Given the description of an element on the screen output the (x, y) to click on. 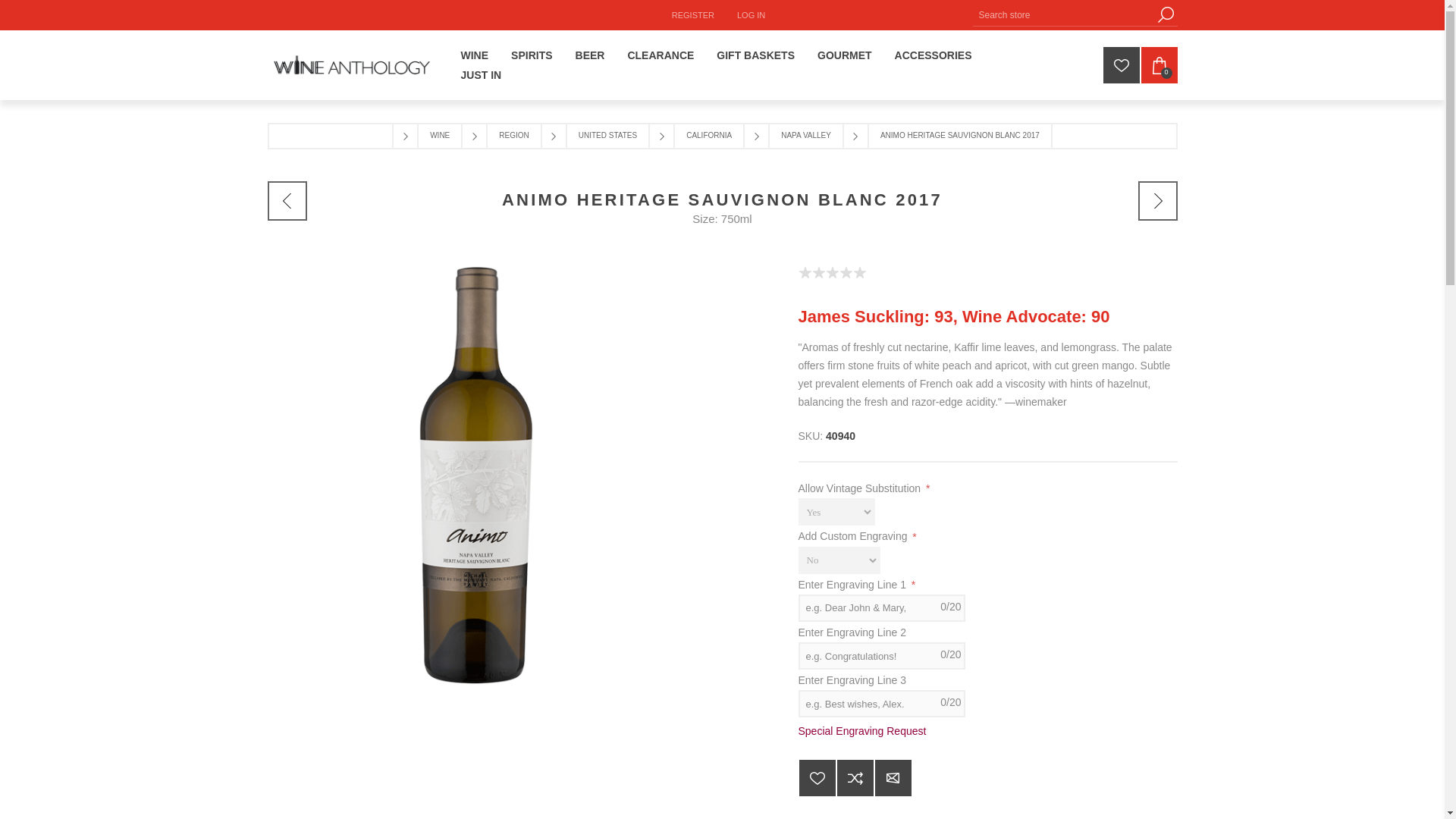
Next product (1156, 200)
Wine (473, 55)
GOURMET (844, 55)
REGISTER (692, 15)
CALIFORNIA (708, 135)
Search (1165, 14)
NAPA VALLEY (806, 135)
Accessories (933, 55)
Clearance (659, 55)
Previous product (285, 200)
